Given the description of an element on the screen output the (x, y) to click on. 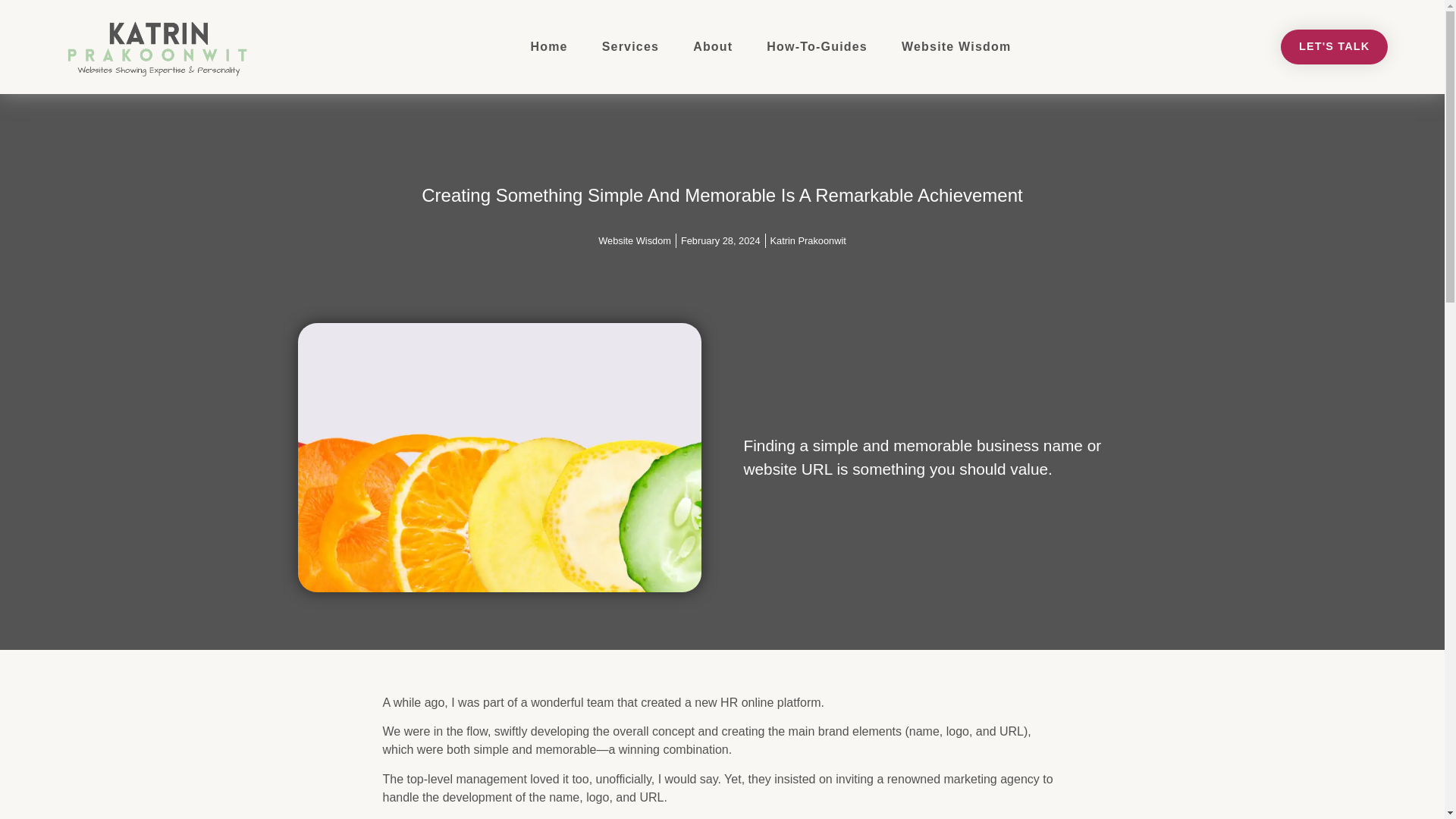
About (713, 46)
Services (630, 46)
Home (548, 46)
LET'S TALK (1335, 46)
Website Wisdom (956, 46)
Website Wisdom (634, 240)
How-To-Guides (816, 46)
